Given the description of an element on the screen output the (x, y) to click on. 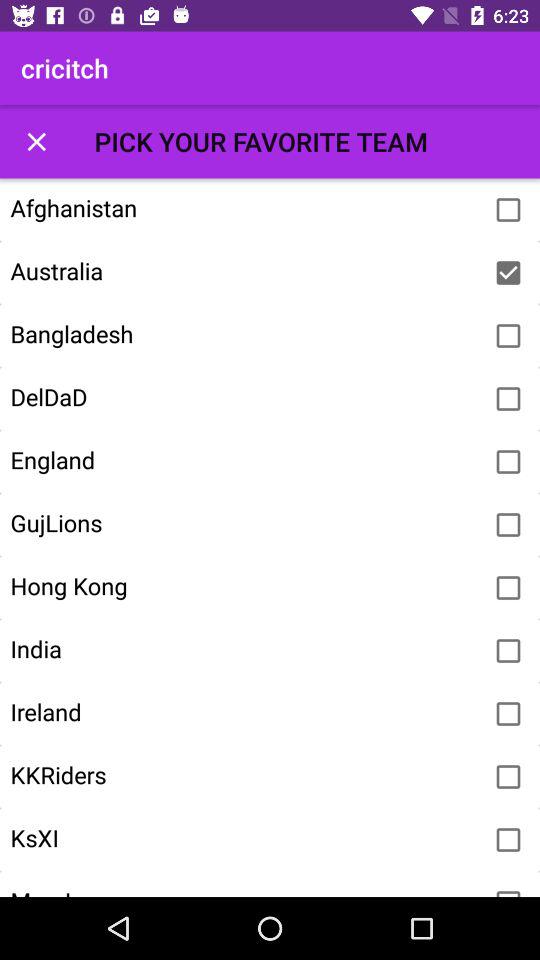
select the item (508, 651)
